Given the description of an element on the screen output the (x, y) to click on. 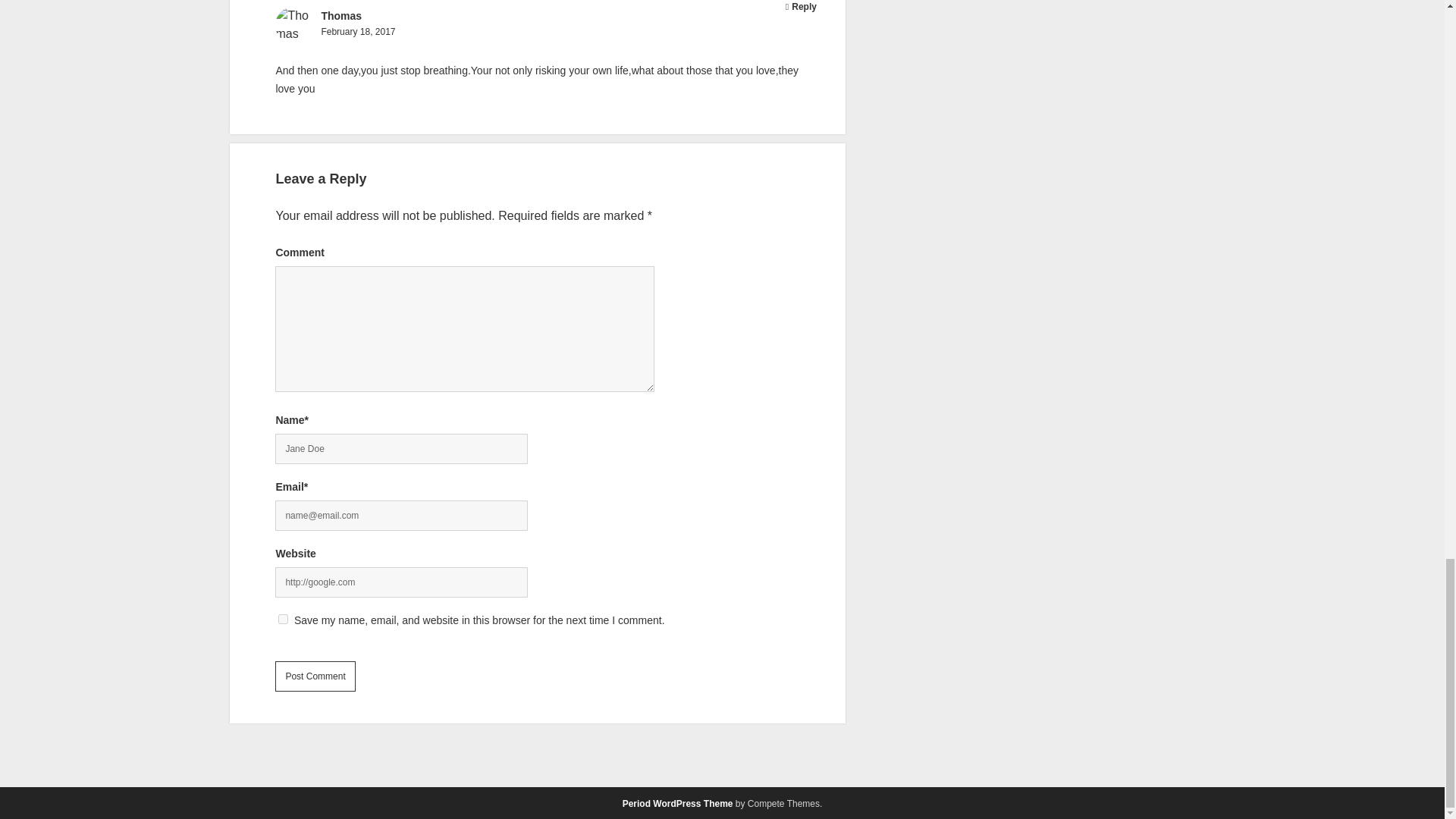
Reply (804, 6)
yes (283, 619)
Post Comment (315, 675)
Post Comment (315, 675)
